Given the description of an element on the screen output the (x, y) to click on. 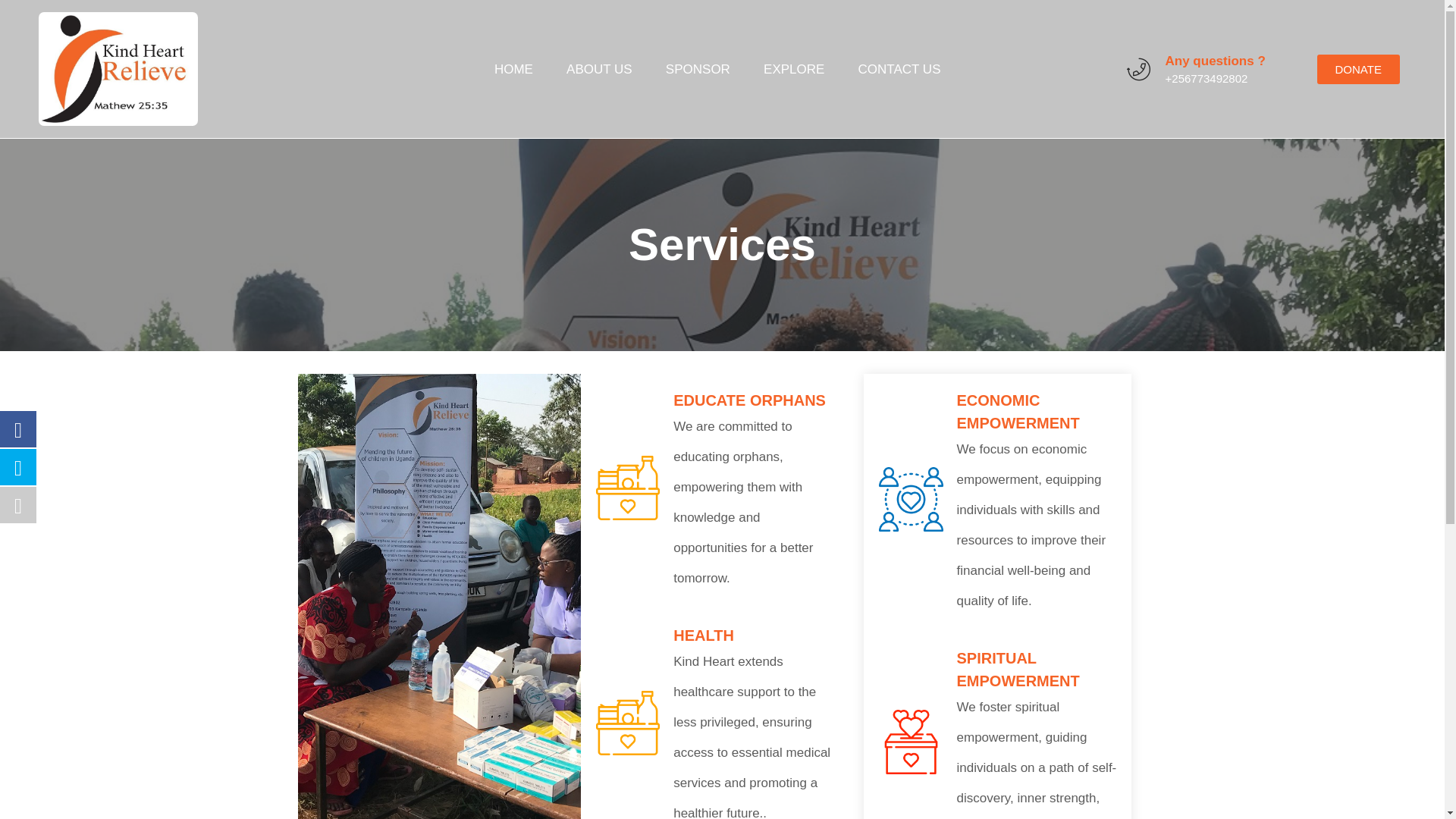
HOME (513, 69)
HEALTH (702, 635)
SPONSOR (697, 69)
ECONOMIC EMPOWERMENT (1018, 411)
DONATE (1358, 69)
ABOUT US (599, 69)
EXPLORE (794, 69)
SPIRITUAL EMPOWERMENT (1018, 669)
CONTACT US (899, 69)
EDUCATE ORPHANS (748, 400)
